Given the description of an element on the screen output the (x, y) to click on. 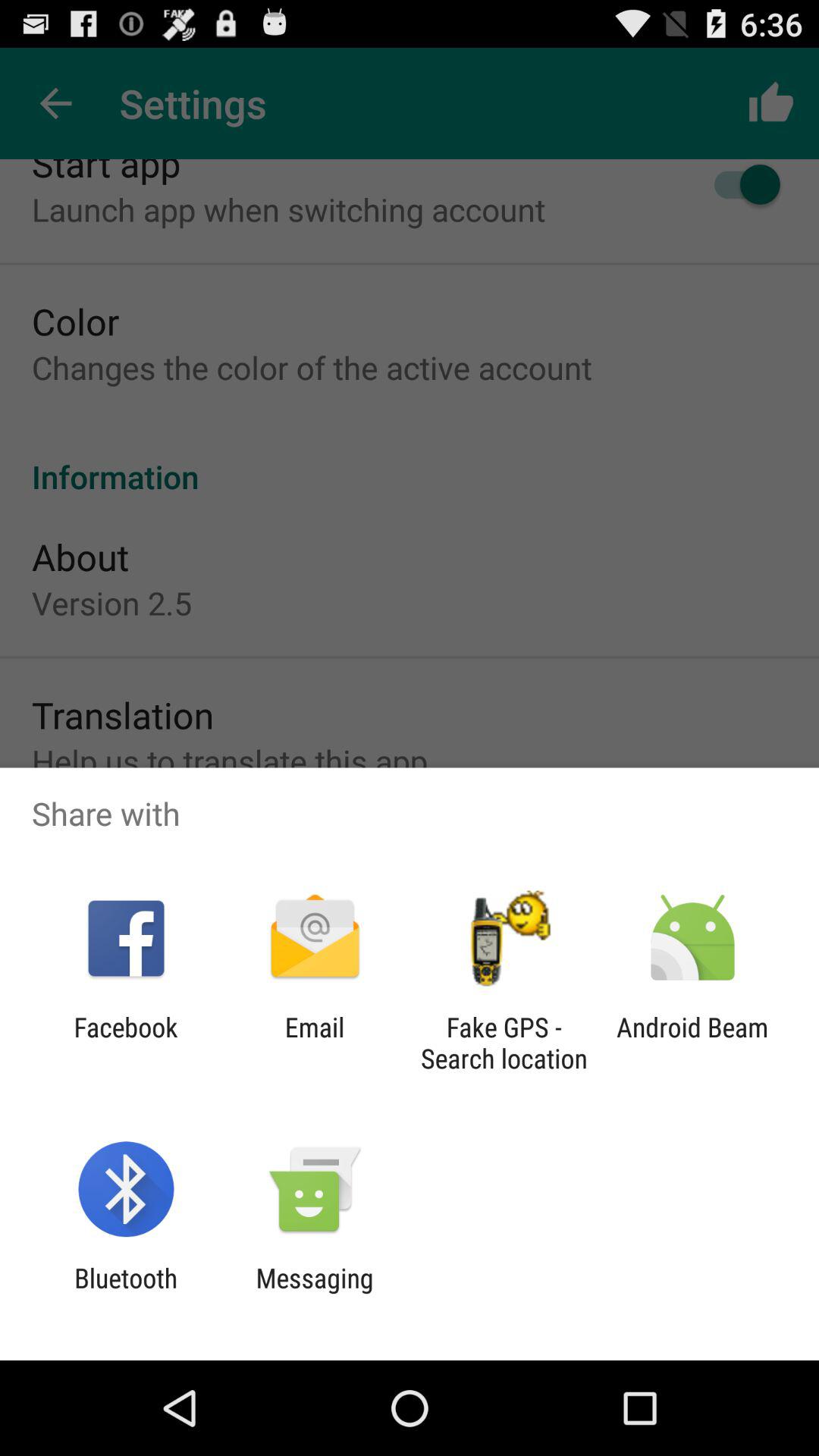
launch item to the right of facebook item (314, 1042)
